Given the description of an element on the screen output the (x, y) to click on. 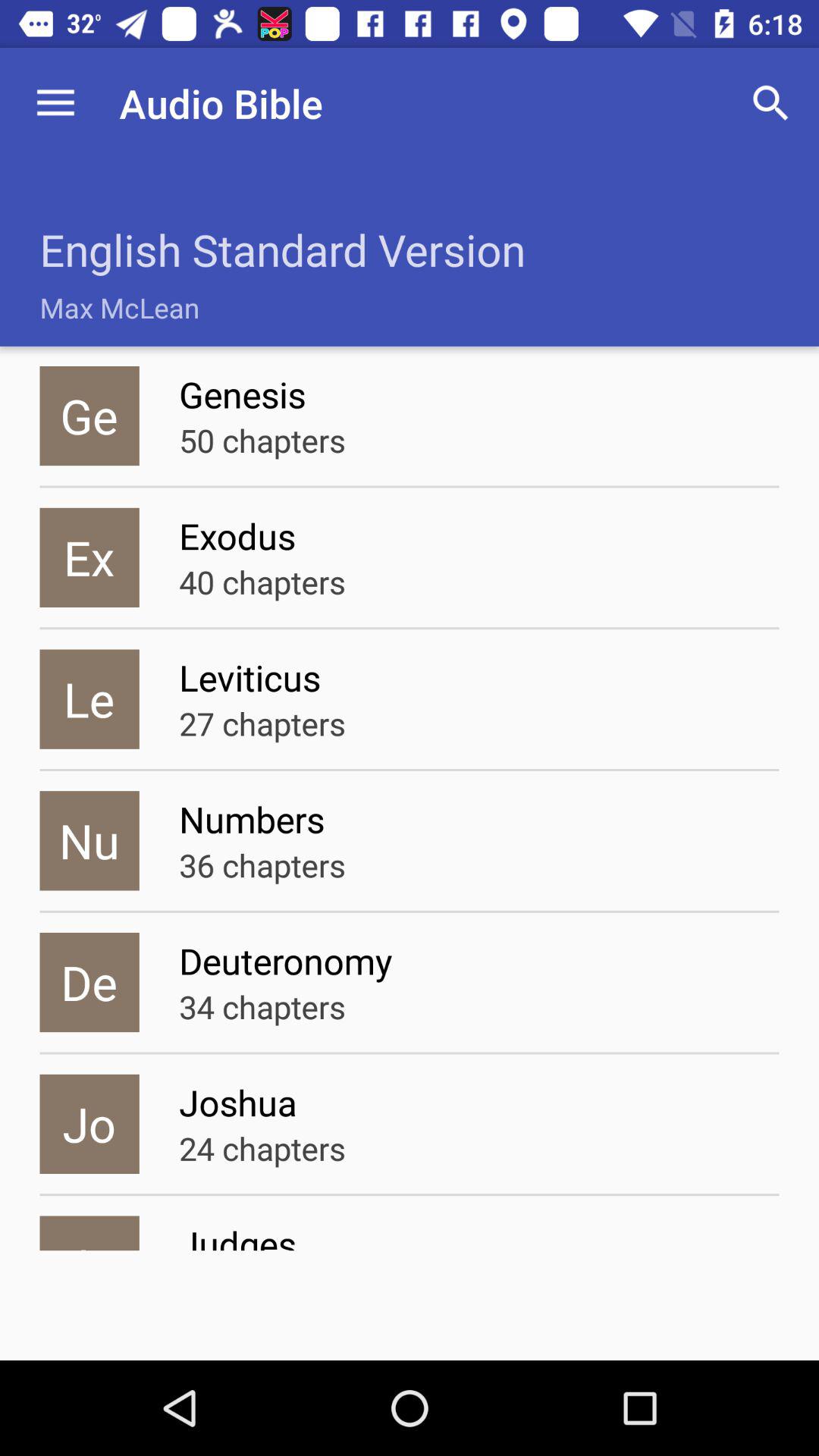
choose the item next to ju item (479, 1234)
